Given the description of an element on the screen output the (x, y) to click on. 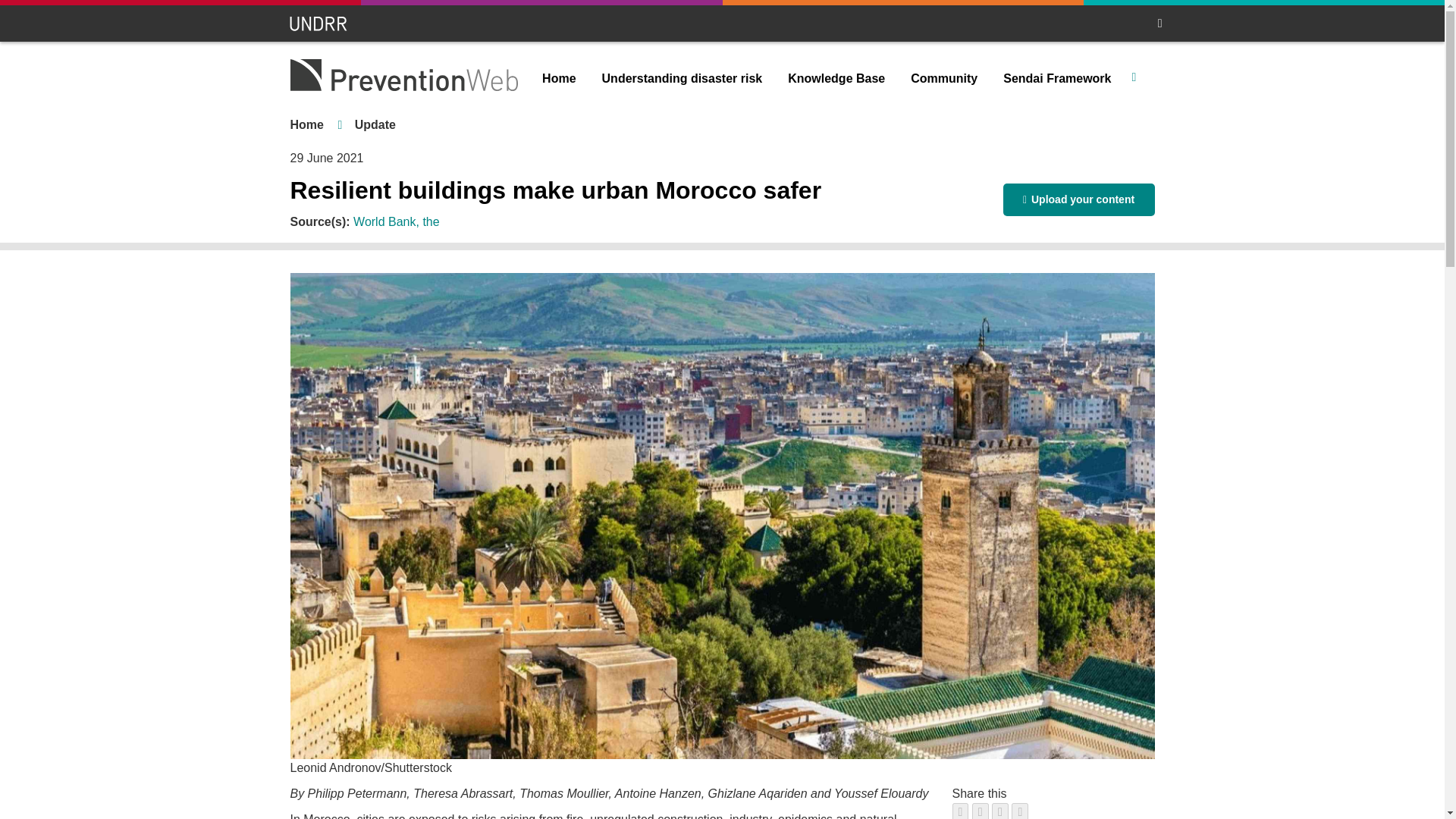
Upload your content (1078, 199)
Share via Email (1019, 811)
Knowledge Base (836, 78)
Home (306, 124)
Update (375, 124)
World Bank, the (396, 221)
PreventionWeb Logo (402, 74)
Share on LinkedIn (1000, 811)
Share on Twitter (980, 811)
UNDRR Homepage (319, 23)
Understanding disaster risk (682, 78)
Home (558, 78)
Share on Facebook (960, 811)
Community (944, 78)
